Given the description of an element on the screen output the (x, y) to click on. 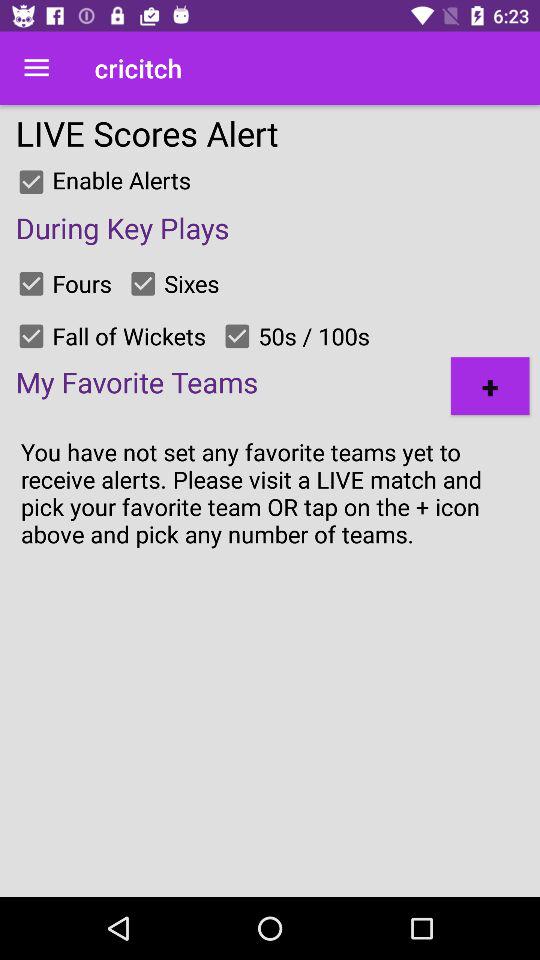
include 50's/100s in live score alerts (237, 336)
